Given the description of an element on the screen output the (x, y) to click on. 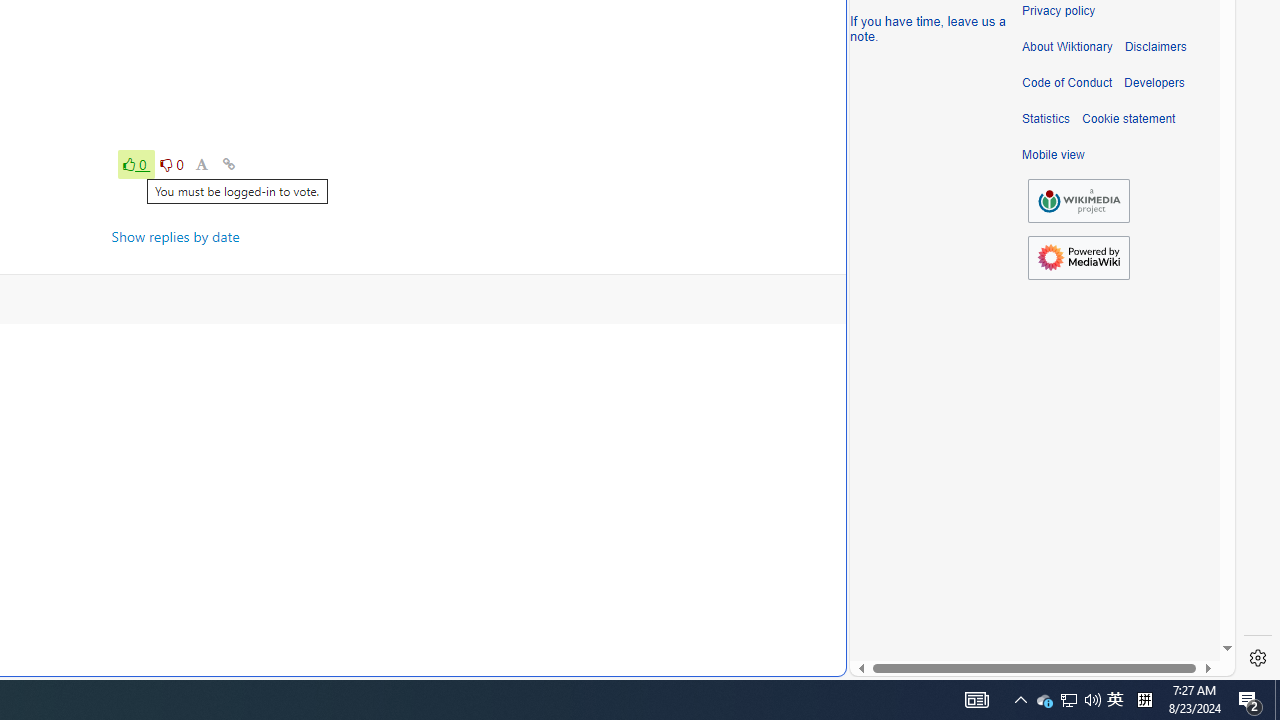
Disclaimers (1154, 47)
Developers (1154, 83)
Code of Conduct (1067, 83)
Wikimedia Foundation (1078, 200)
Cookie statement (1128, 119)
Mobile view (1053, 155)
